Given the description of an element on the screen output the (x, y) to click on. 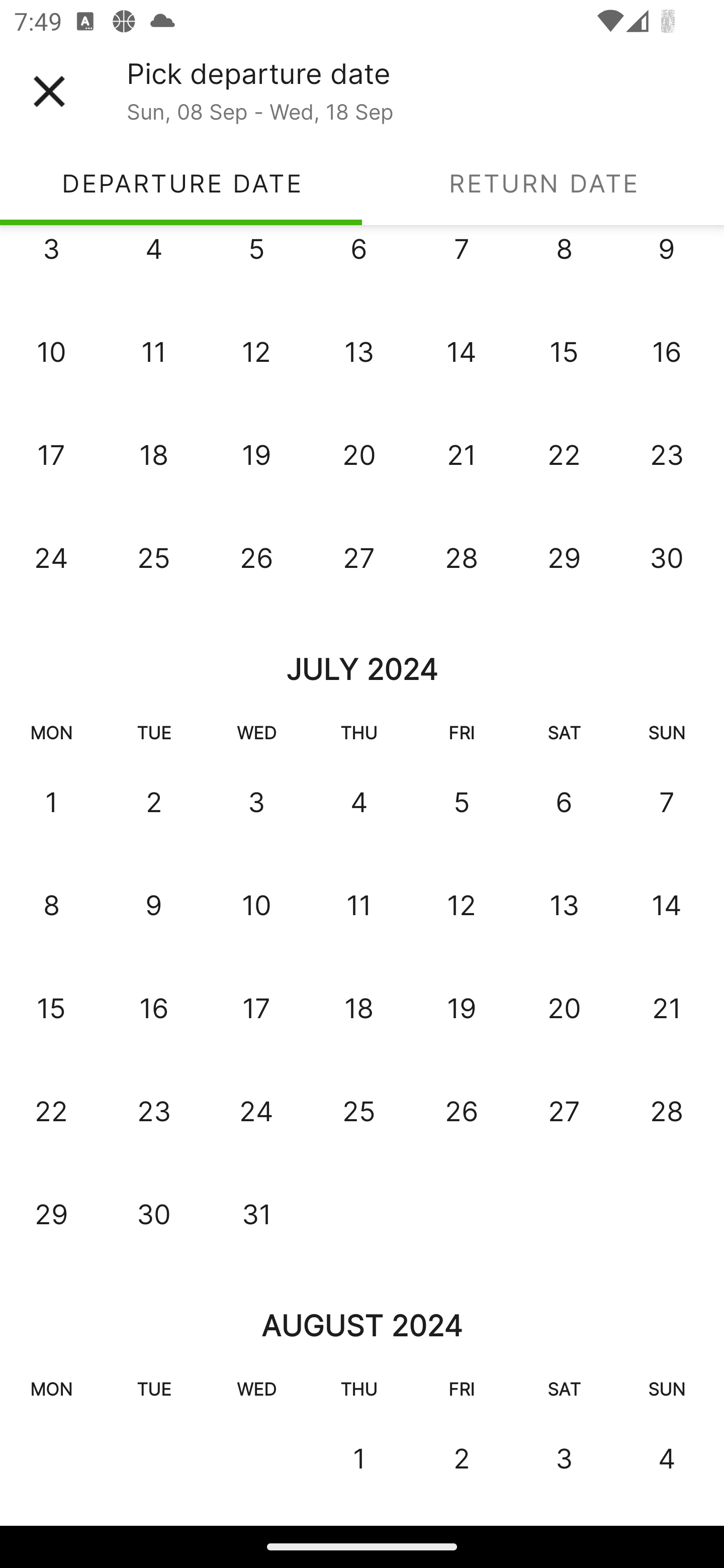
Return Date RETURN DATE (543, 183)
